Given the description of an element on the screen output the (x, y) to click on. 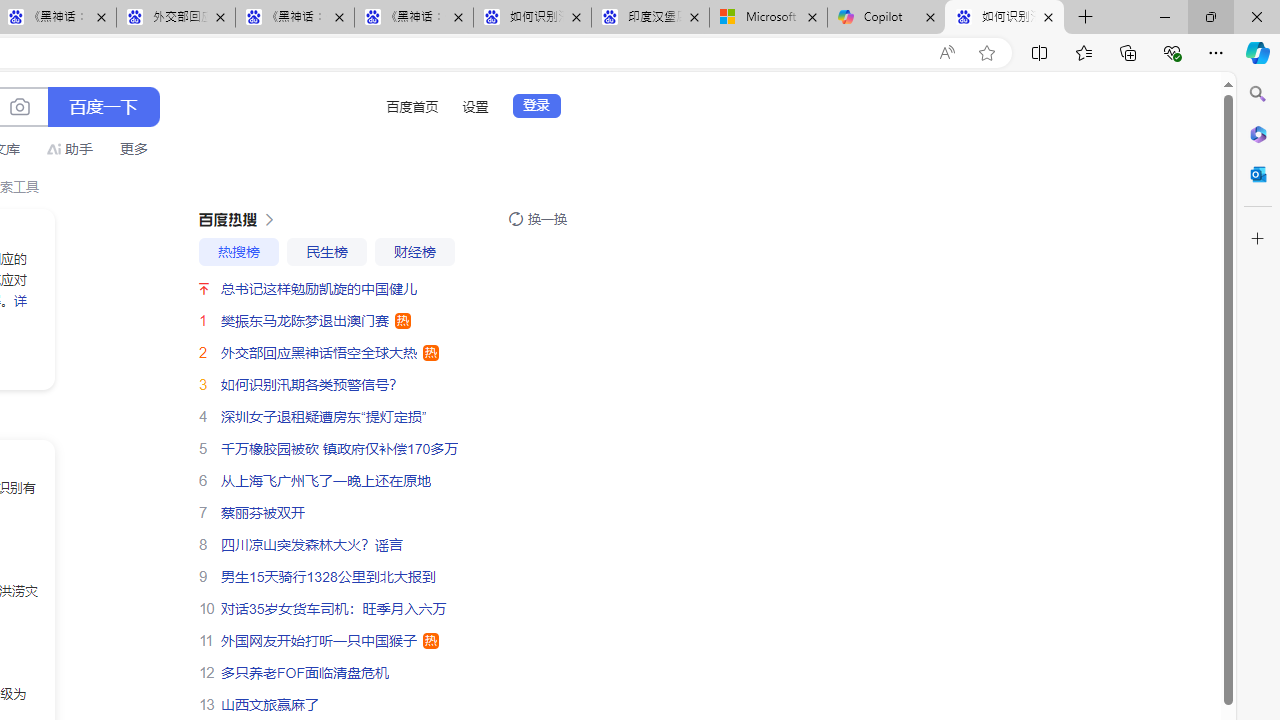
Copilot (886, 17)
